Given the description of an element on the screen output the (x, y) to click on. 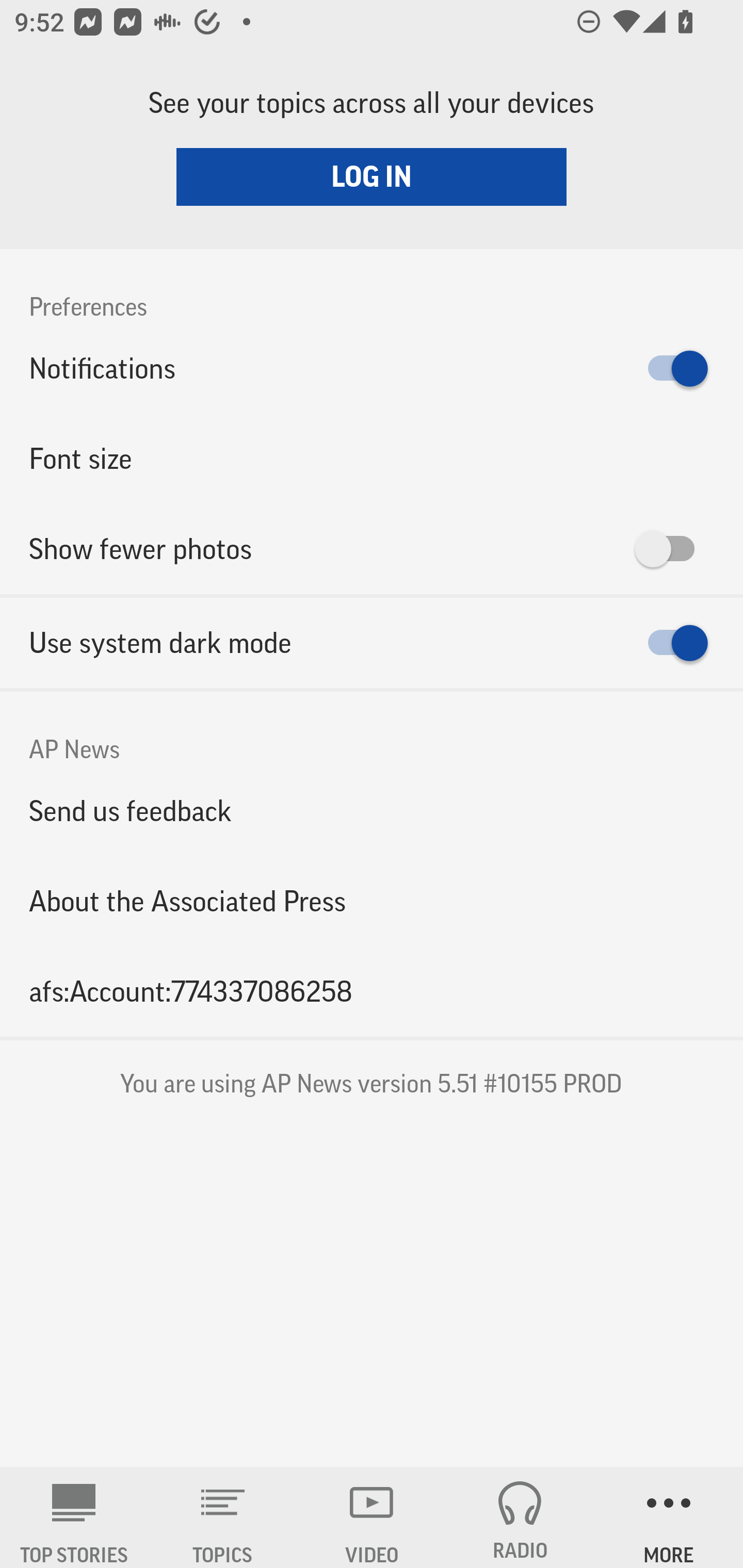
LOG IN (371, 176)
Notifications (371, 368)
Font size (371, 458)
Show fewer photos (371, 548)
Use system dark mode (371, 642)
Send us feedback (371, 810)
About the Associated Press (371, 901)
afs:Account:774337086258 (371, 991)
AP News TOP STORIES (74, 1517)
TOPICS (222, 1517)
VIDEO (371, 1517)
RADIO (519, 1517)
MORE (668, 1517)
